Given the description of an element on the screen output the (x, y) to click on. 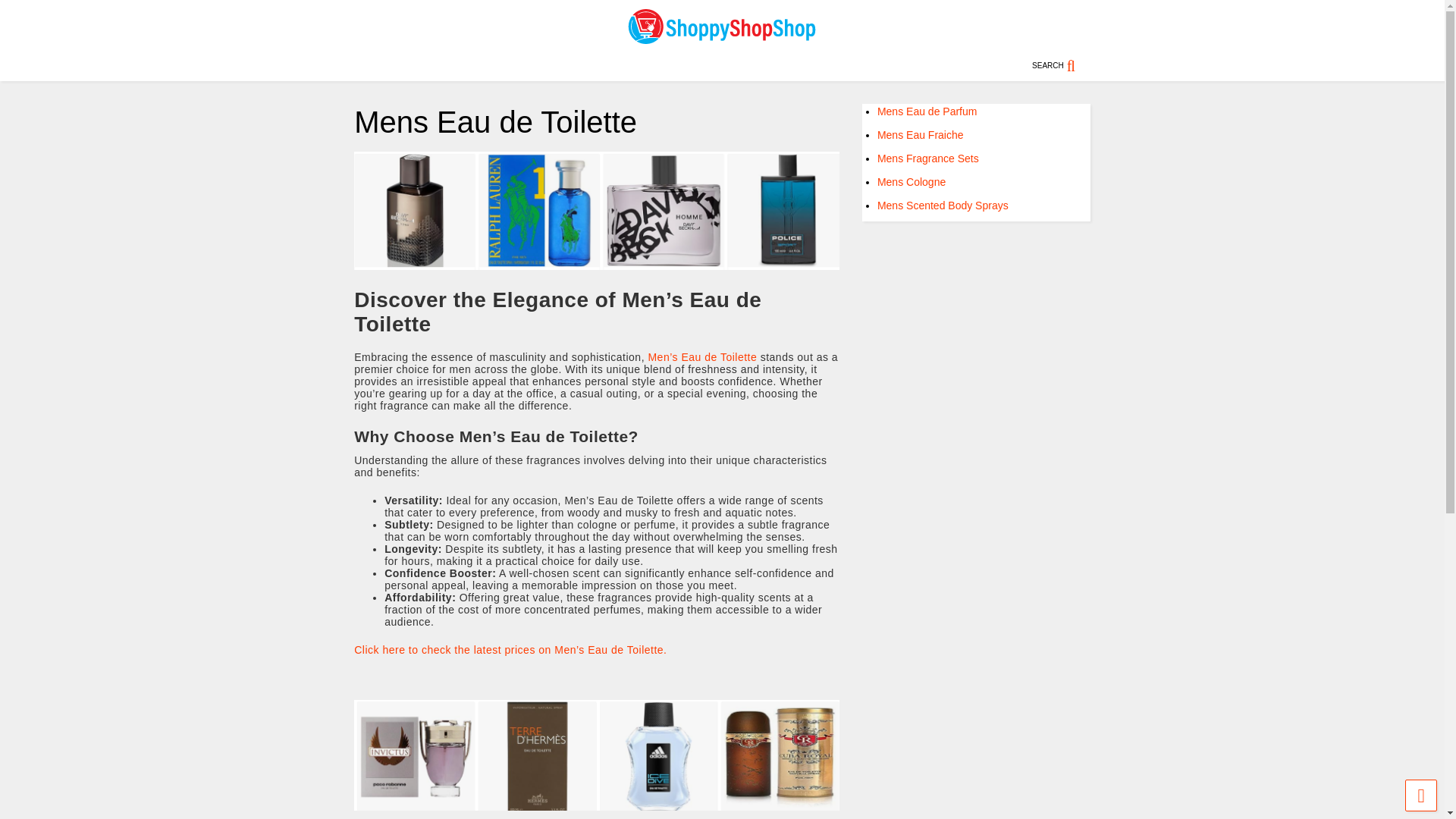
SEARCH (1061, 65)
Mens Scented Body Sprays (943, 205)
Mens Eau de Parfum (926, 111)
Mens Fragrance Sets (927, 158)
Mens Cologne (910, 182)
Mens Eau Fraiche (920, 134)
Find A Bargain Today With Shoppy Shop Shop (721, 38)
